Given the description of an element on the screen output the (x, y) to click on. 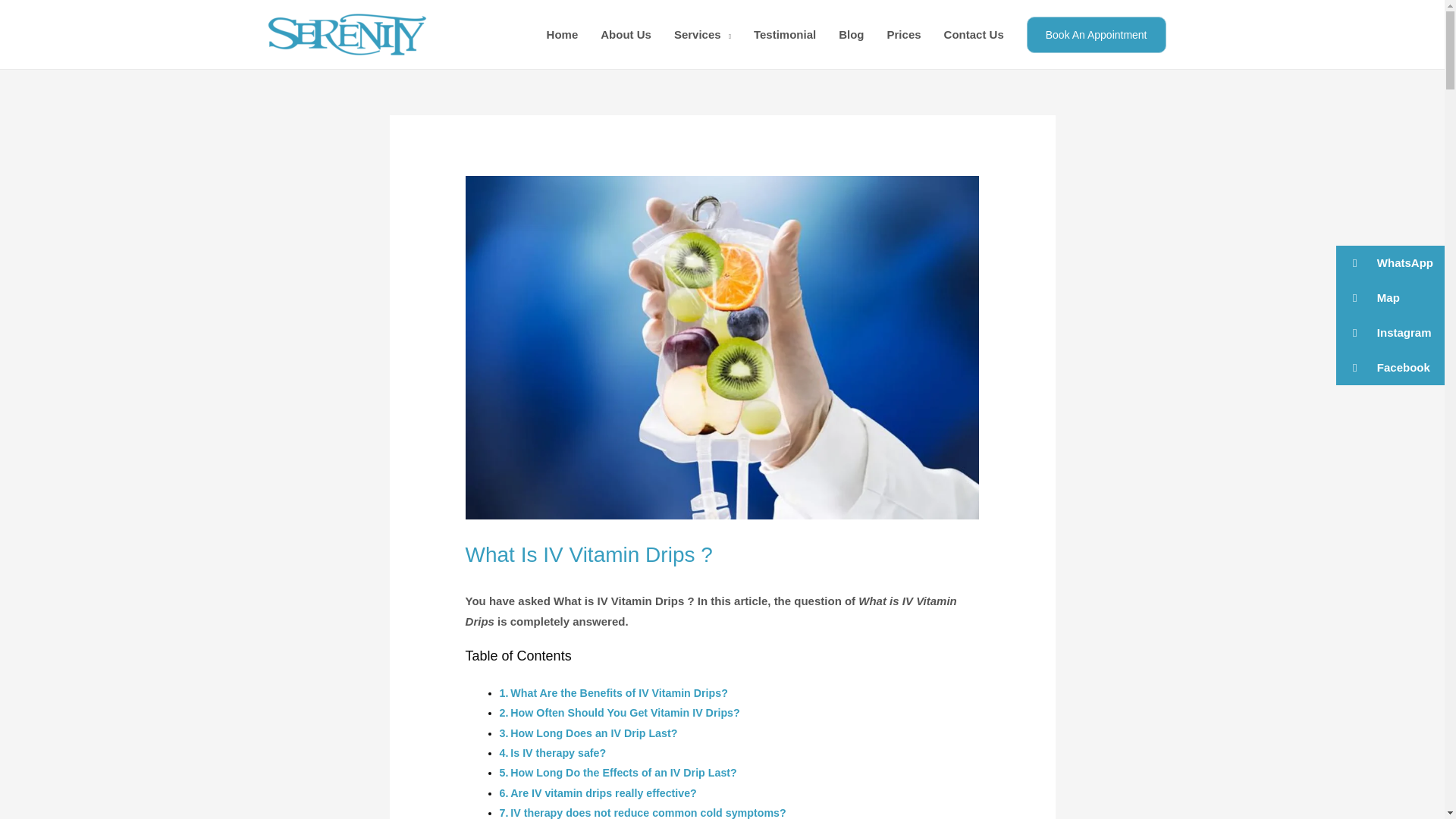
Services (702, 34)
Home (562, 34)
What Are the Benefits of IV Vitamin Drips? (619, 693)
How Often Should You Get Vitamin IV Drips? (625, 712)
How Long Does an IV Drip Last? (594, 733)
About Us (625, 34)
Is IV therapy safe? (558, 752)
IV therapy does not reduce common cold symptoms? (648, 812)
Are IV vitamin drips really effective? (604, 793)
How Long Do the Effects of an IV Drip Last? (623, 772)
